Given the description of an element on the screen output the (x, y) to click on. 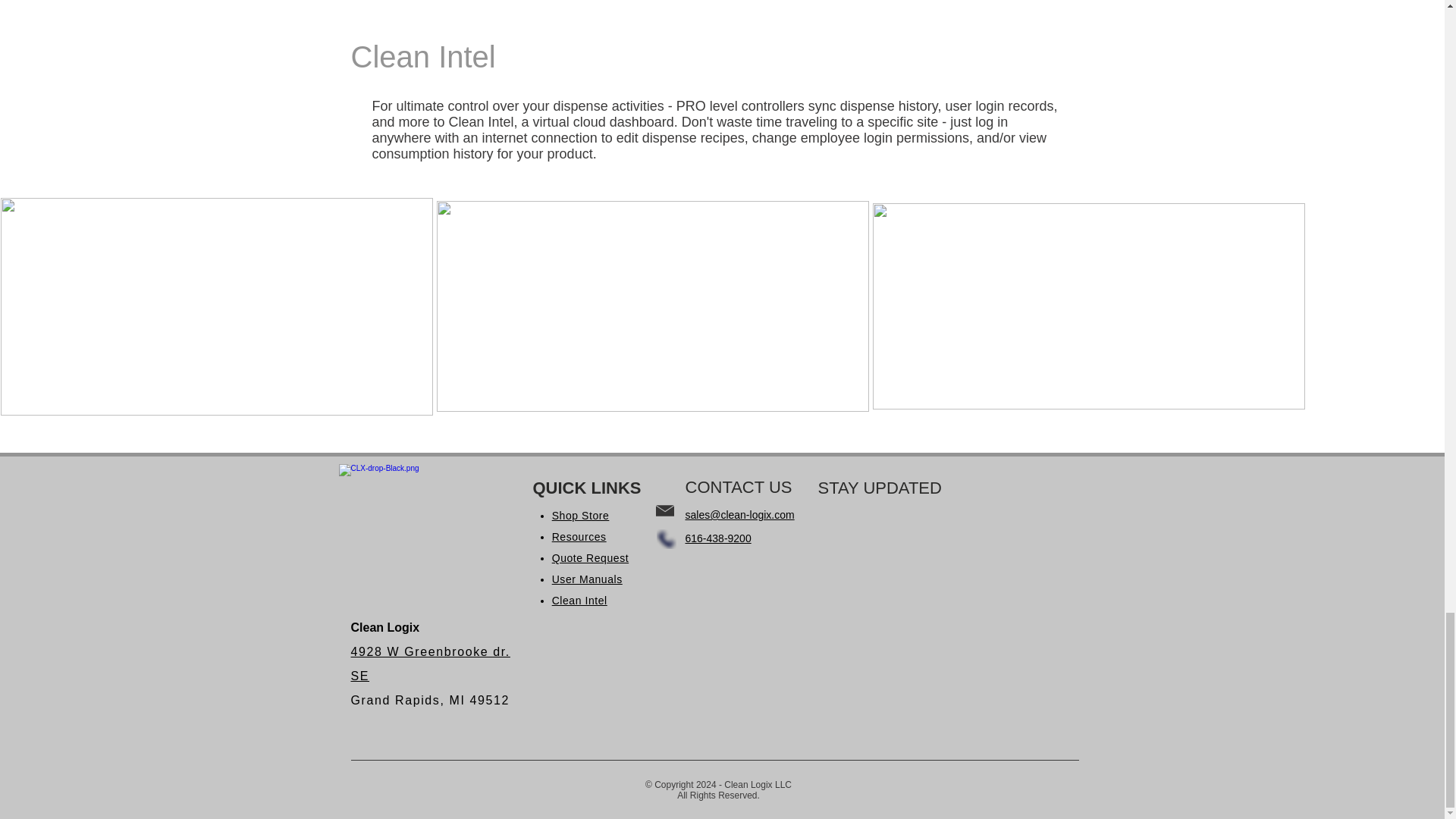
Quote Request (589, 558)
Resources (579, 536)
Clean Intel (579, 600)
616-438-9200 (718, 538)
Shop Store (580, 515)
Clean Logix (419, 502)
User Manuals (587, 579)
4928 W Greenbrooke dr. SE (429, 663)
